Given the description of an element on the screen output the (x, y) to click on. 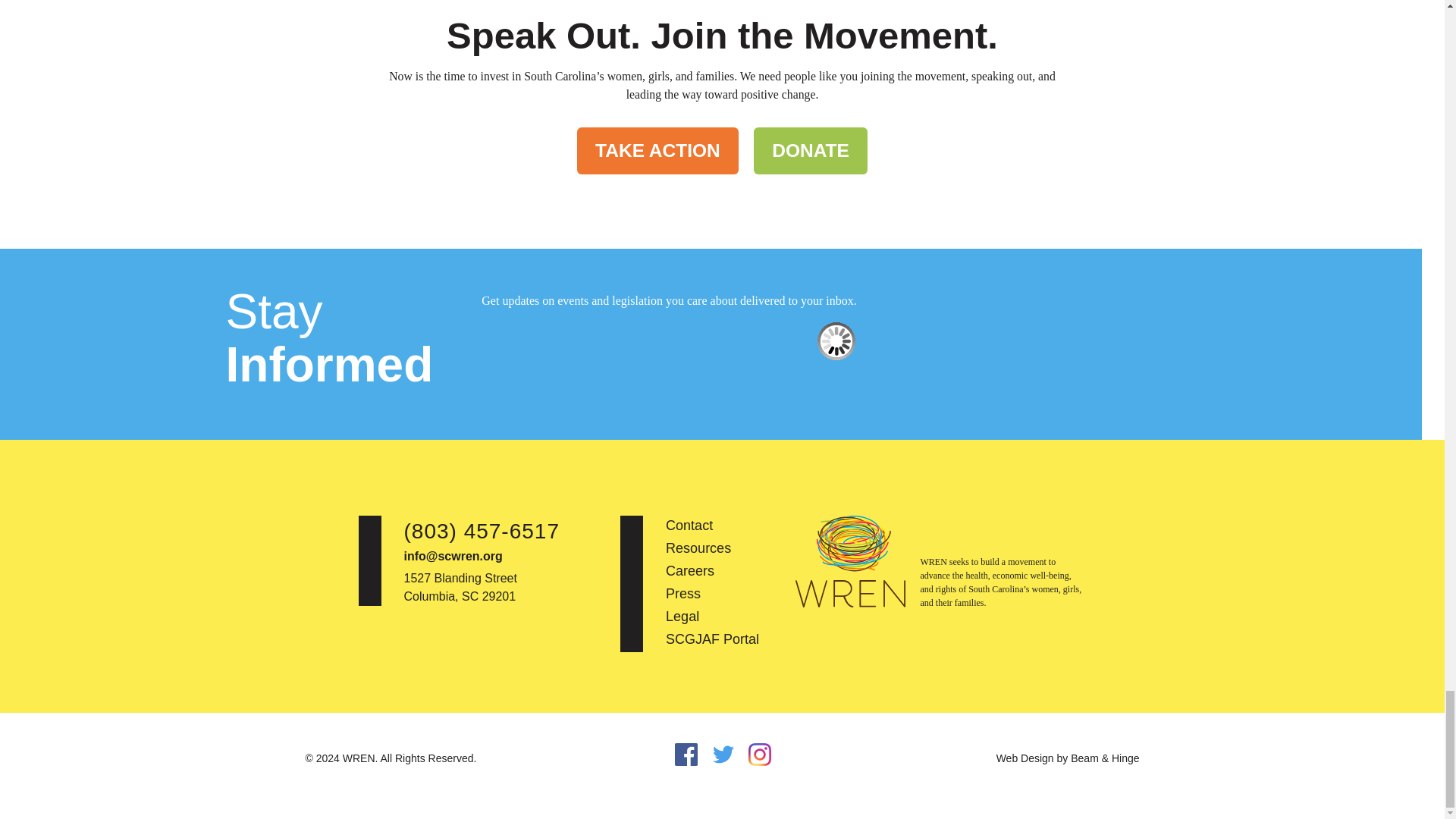
Web design in Columbia, SC (1067, 758)
